Given the description of an element on the screen output the (x, y) to click on. 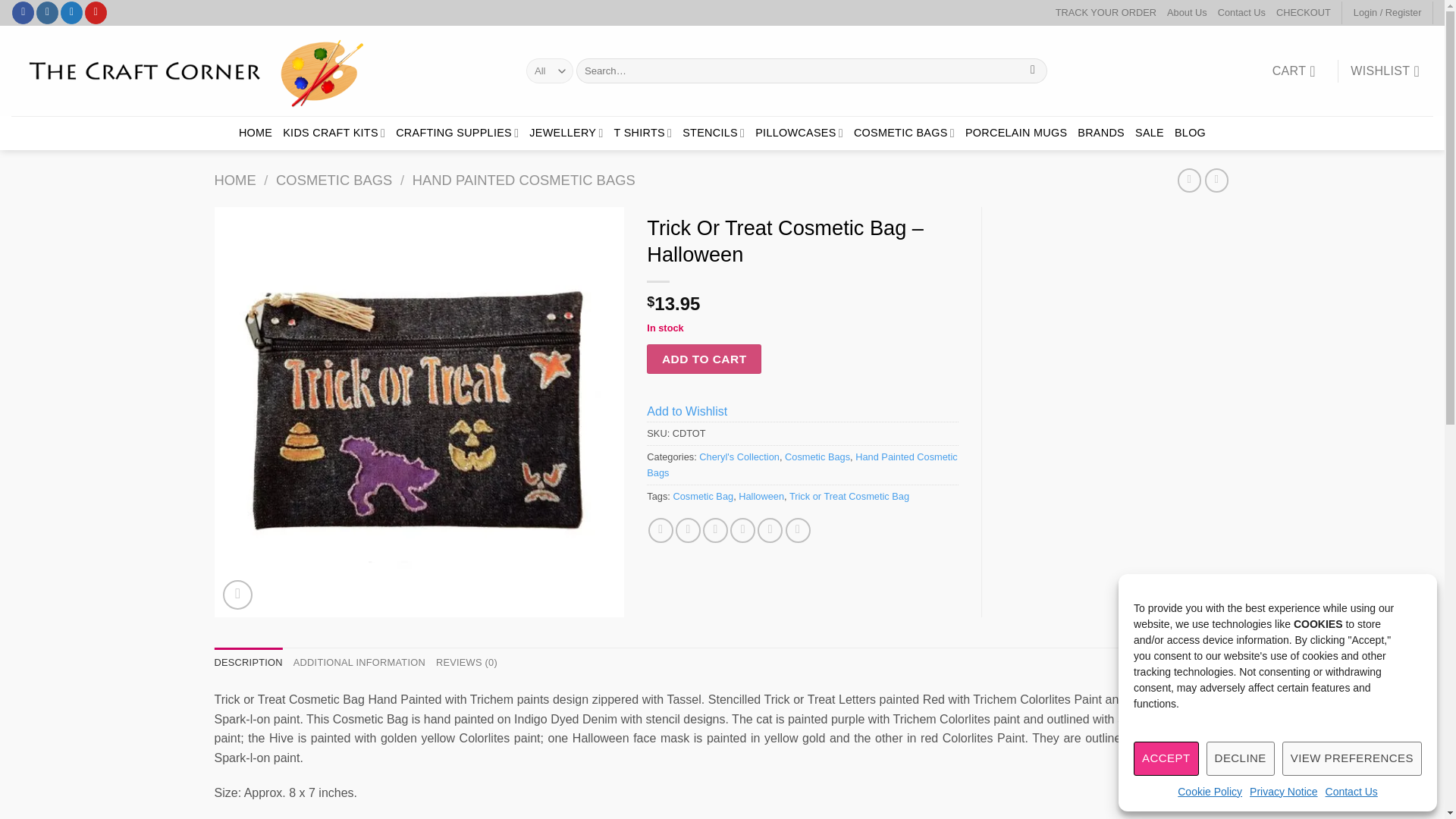
DECLINE (1241, 758)
Cookie Policy (1209, 791)
About Us (1187, 12)
WISHLIST (1385, 70)
Login (1388, 12)
Wishlist (1385, 70)
ACCEPT (1166, 758)
VIEW PREFERENCES (1352, 758)
The Craft Corner - Crafts and Gifts (257, 70)
Search (1032, 71)
